Given the description of an element on the screen output the (x, y) to click on. 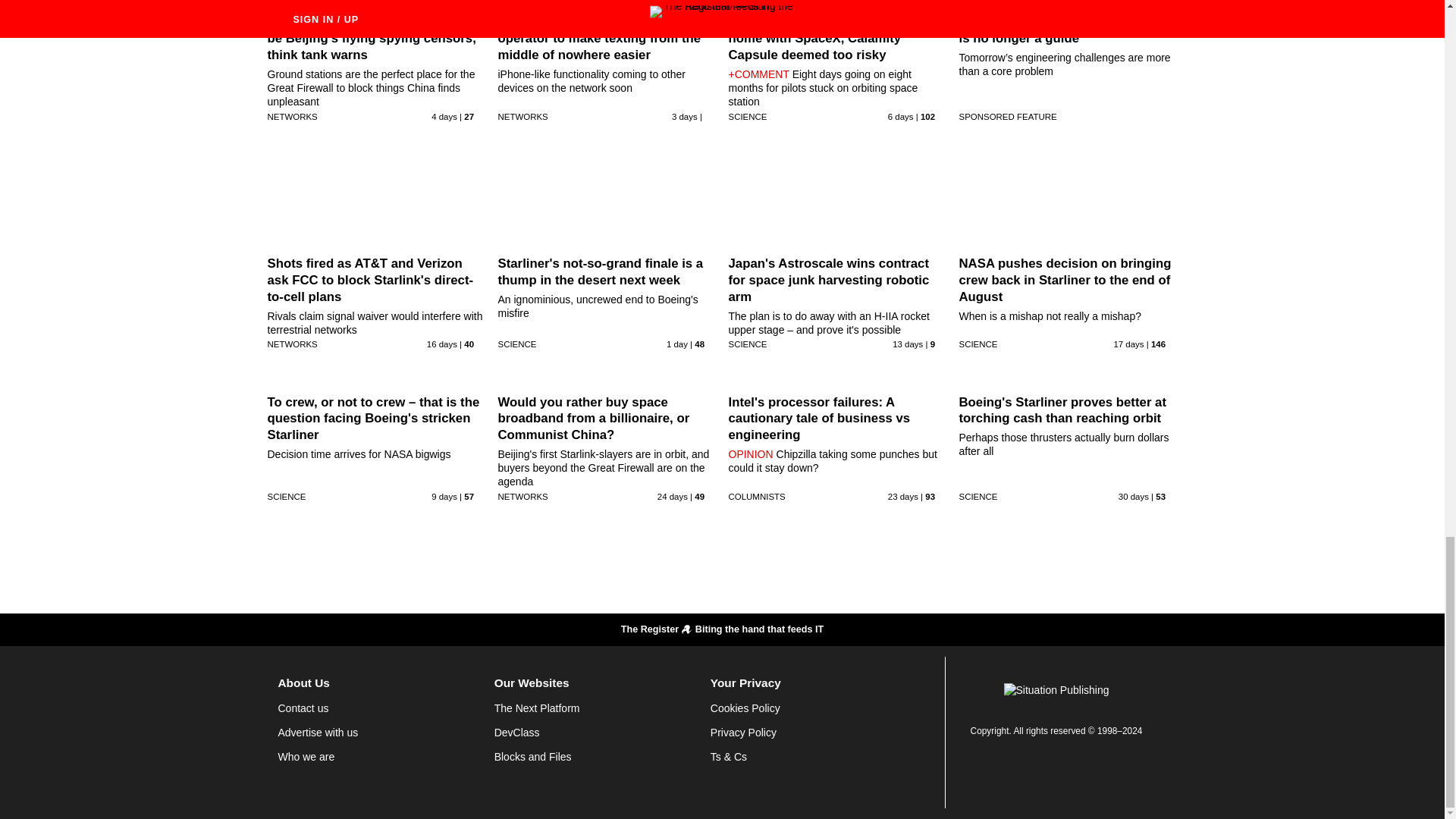
30 Aug 2024 20:30 (676, 343)
25 Aug 2024 19:29 (901, 116)
23 Aug 2024 16:0 (443, 496)
16 Aug 2024 15:15 (441, 343)
8 Aug 2024 3:58 (672, 496)
15 Aug 2024 14:40 (1127, 343)
29 Aug 2024 15:33 (684, 116)
28 Aug 2024 1:58 (443, 116)
19 Aug 2024 6:30 (907, 343)
